Given the description of an element on the screen output the (x, y) to click on. 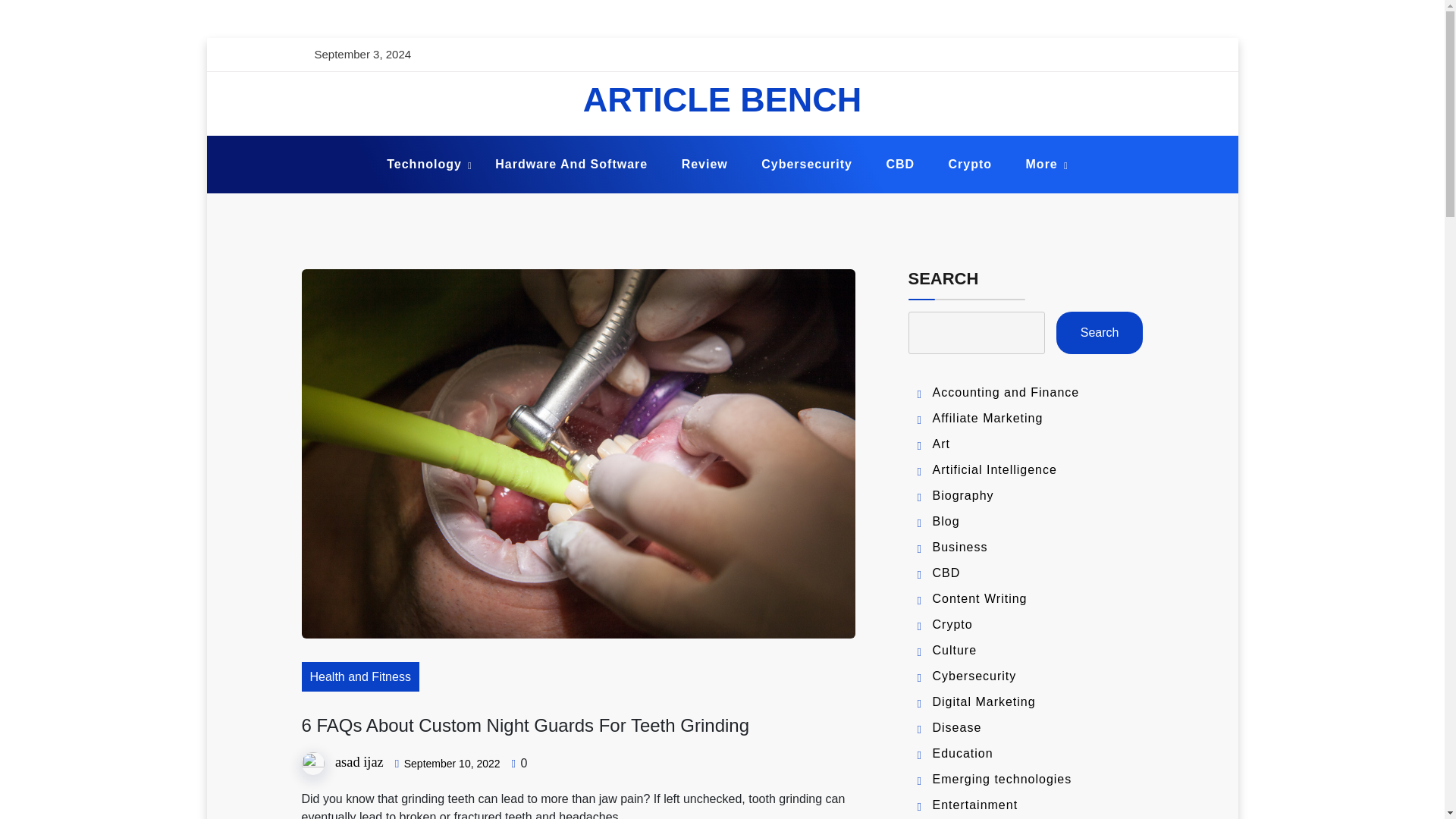
Health and Fitness (360, 676)
Technology (424, 164)
Review (704, 164)
ARTICLE BENCH (722, 99)
Crypto (970, 164)
asad ijaz (359, 761)
More (1041, 164)
September 10, 2022 (452, 763)
Cybersecurity (806, 164)
